Given the description of an element on the screen output the (x, y) to click on. 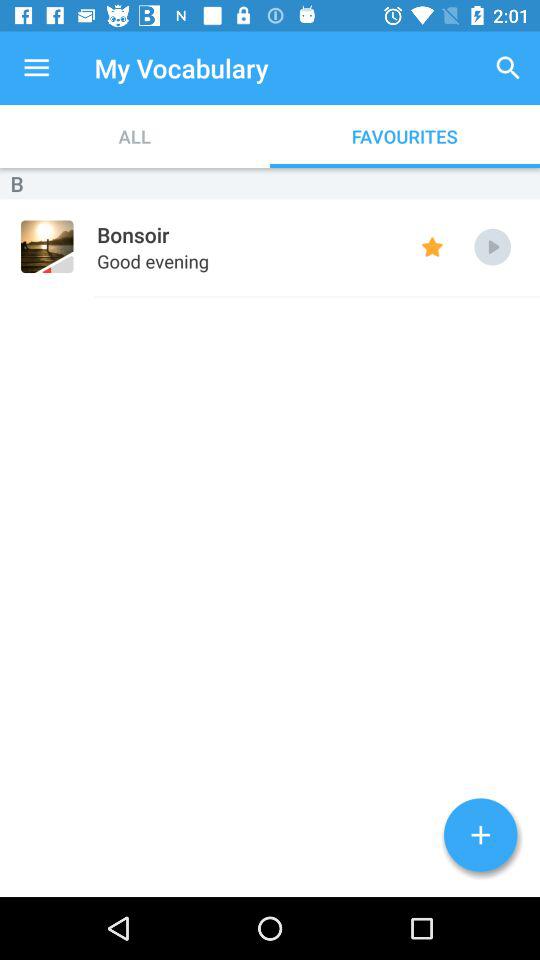
add word (480, 835)
